Given the description of an element on the screen output the (x, y) to click on. 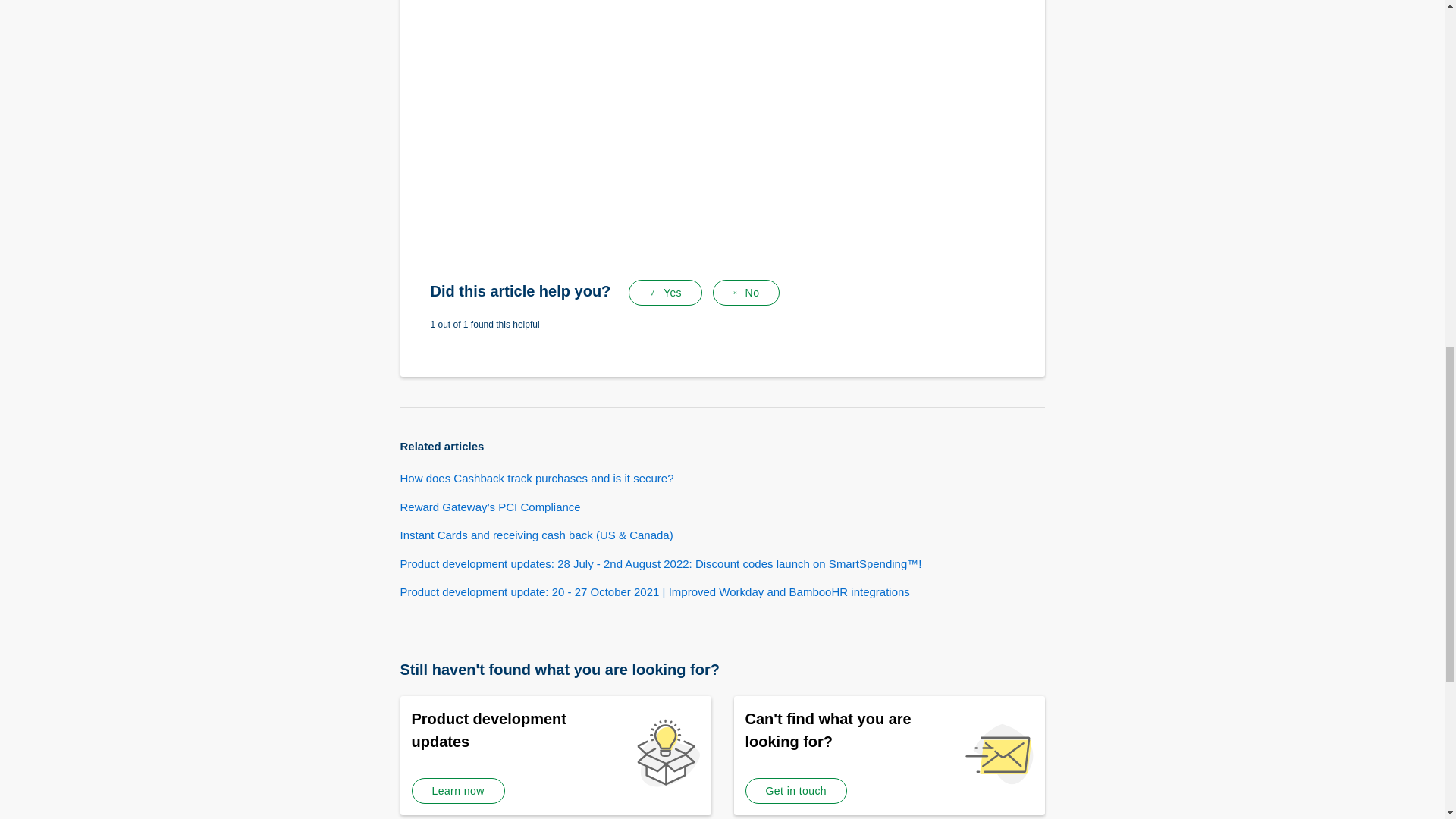
How does Cashback track purchases and is it secure? (537, 477)
Yes (664, 292)
Learn now (456, 790)
No (745, 292)
Get in touch (795, 790)
